Given the description of an element on the screen output the (x, y) to click on. 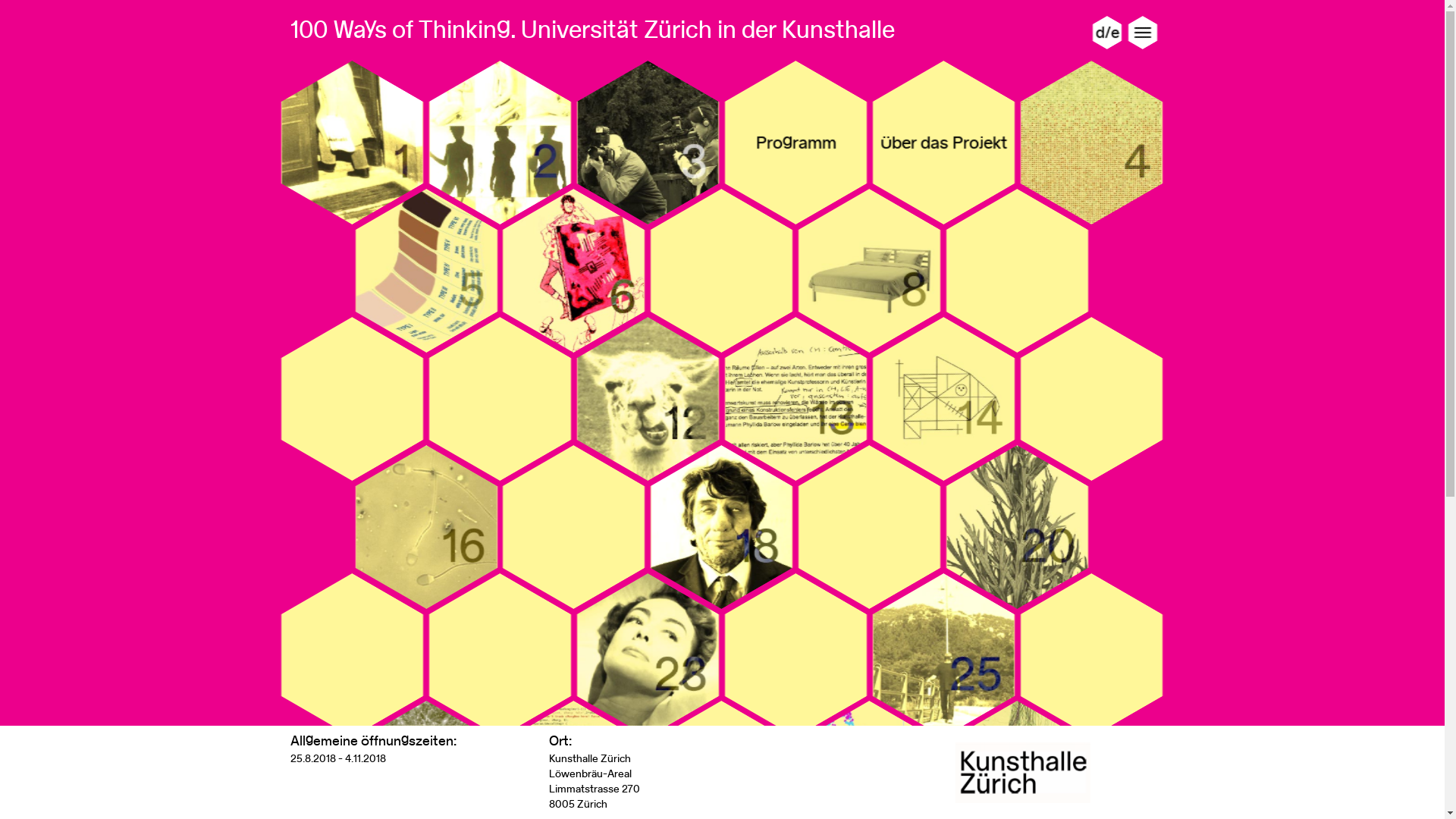
d/e Element type: text (1106, 32)
Programm Element type: text (795, 142)
